Given the description of an element on the screen output the (x, y) to click on. 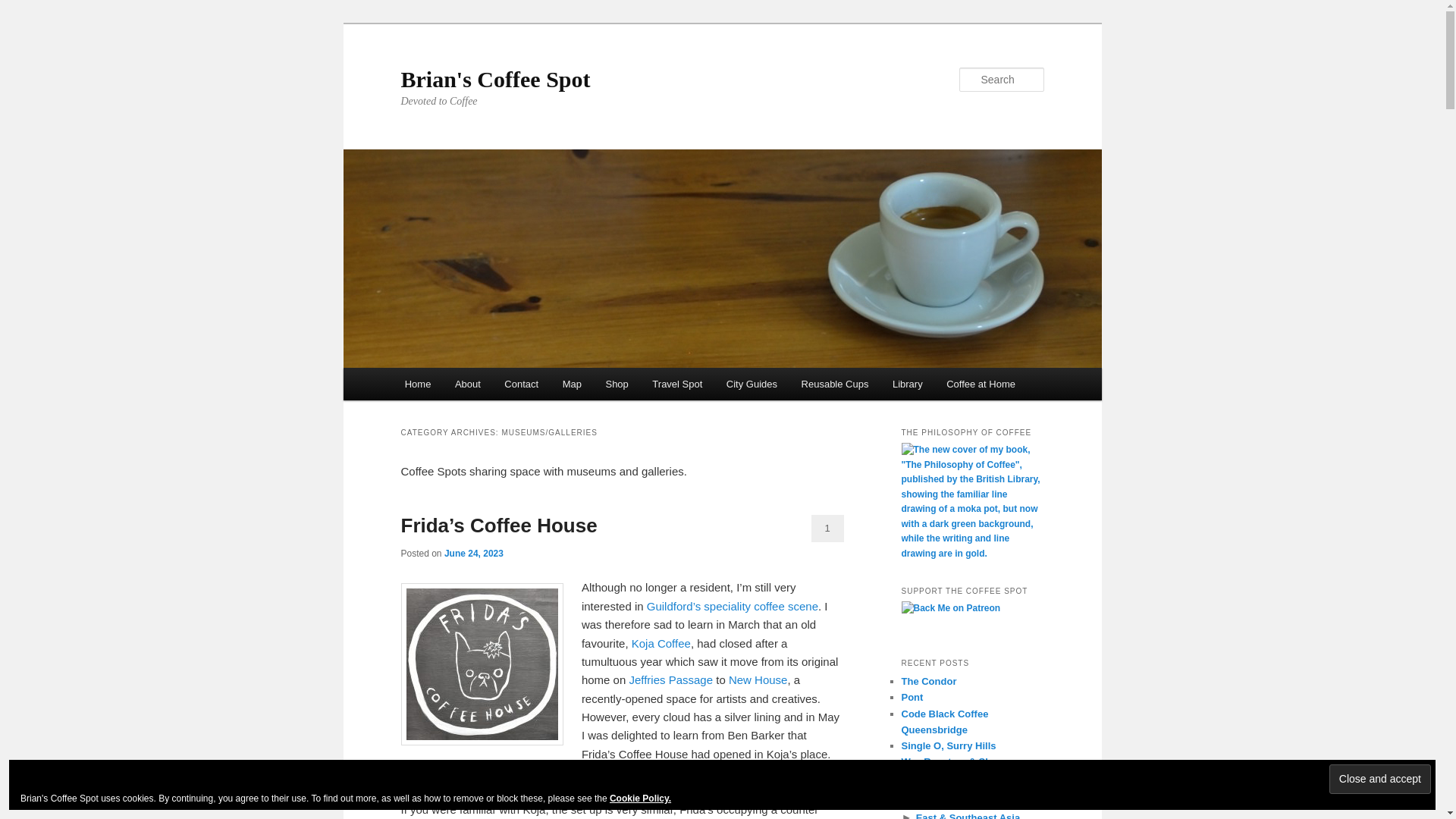
Map (572, 383)
Close and accept (1380, 778)
City Guides (751, 383)
About (467, 383)
Contact (521, 383)
Brian's Coffee Spot (494, 78)
Travel Spot (677, 383)
Shop (617, 383)
